Given the description of an element on the screen output the (x, y) to click on. 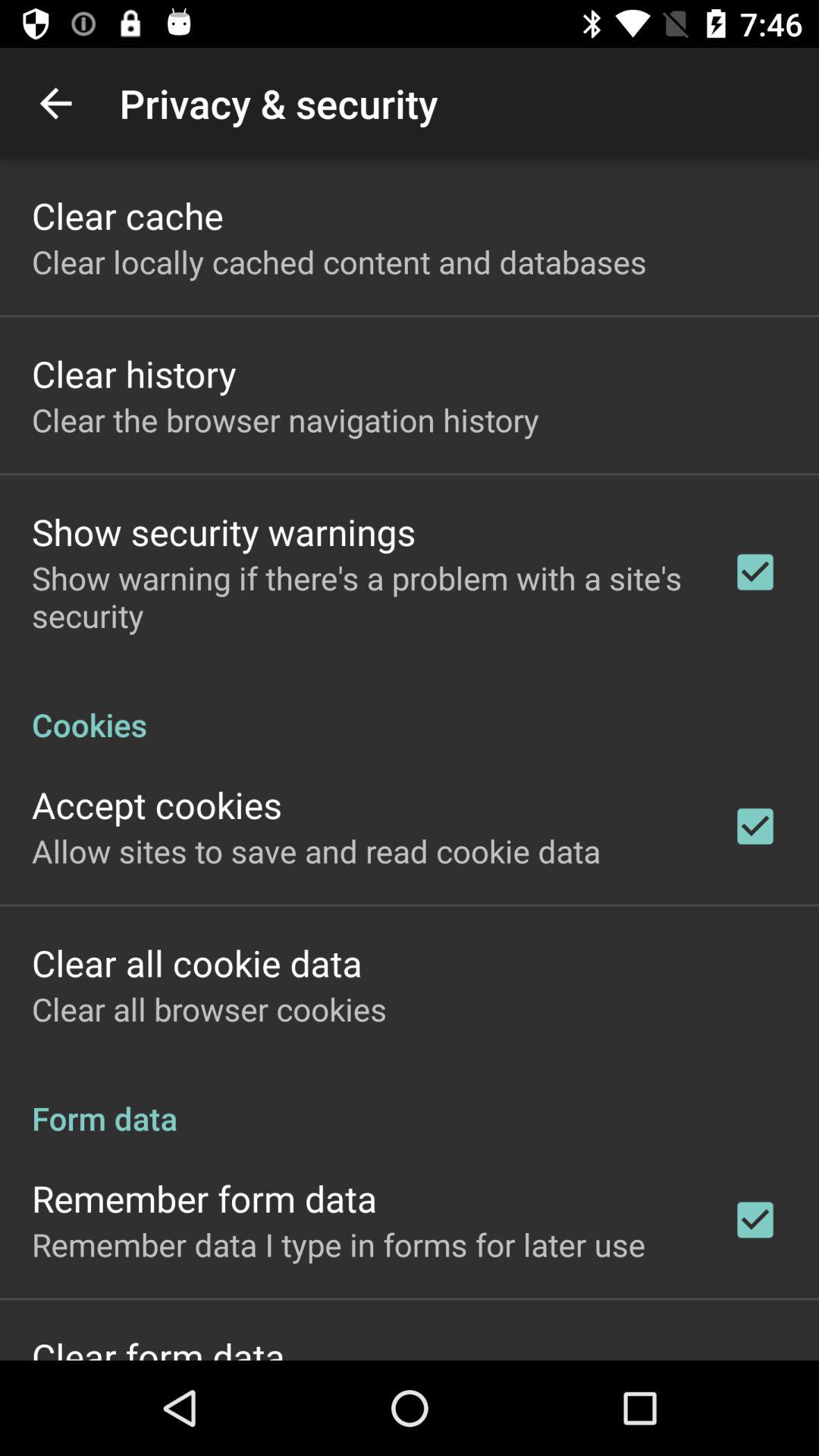
choose the allow sites to item (315, 850)
